Given the description of an element on the screen output the (x, y) to click on. 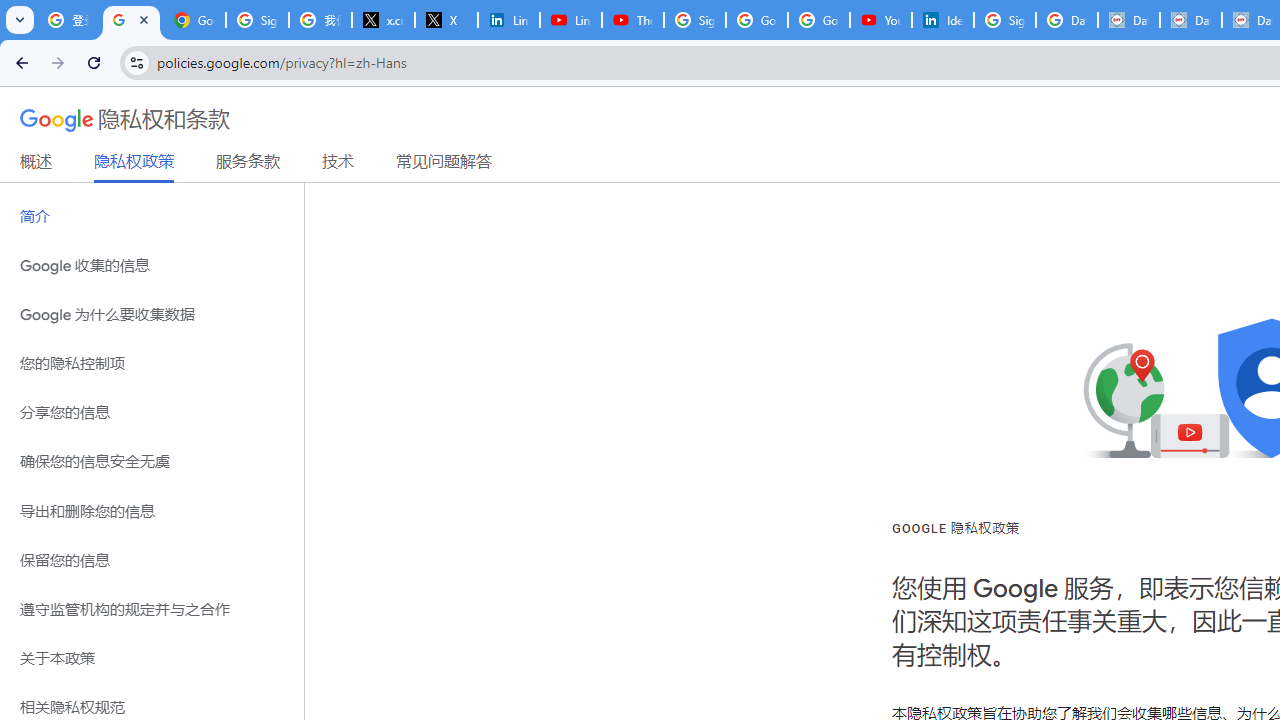
LinkedIn - YouTube (570, 20)
Data Privacy Framework (1128, 20)
Sign in - Google Accounts (257, 20)
